Given the description of an element on the screen output the (x, y) to click on. 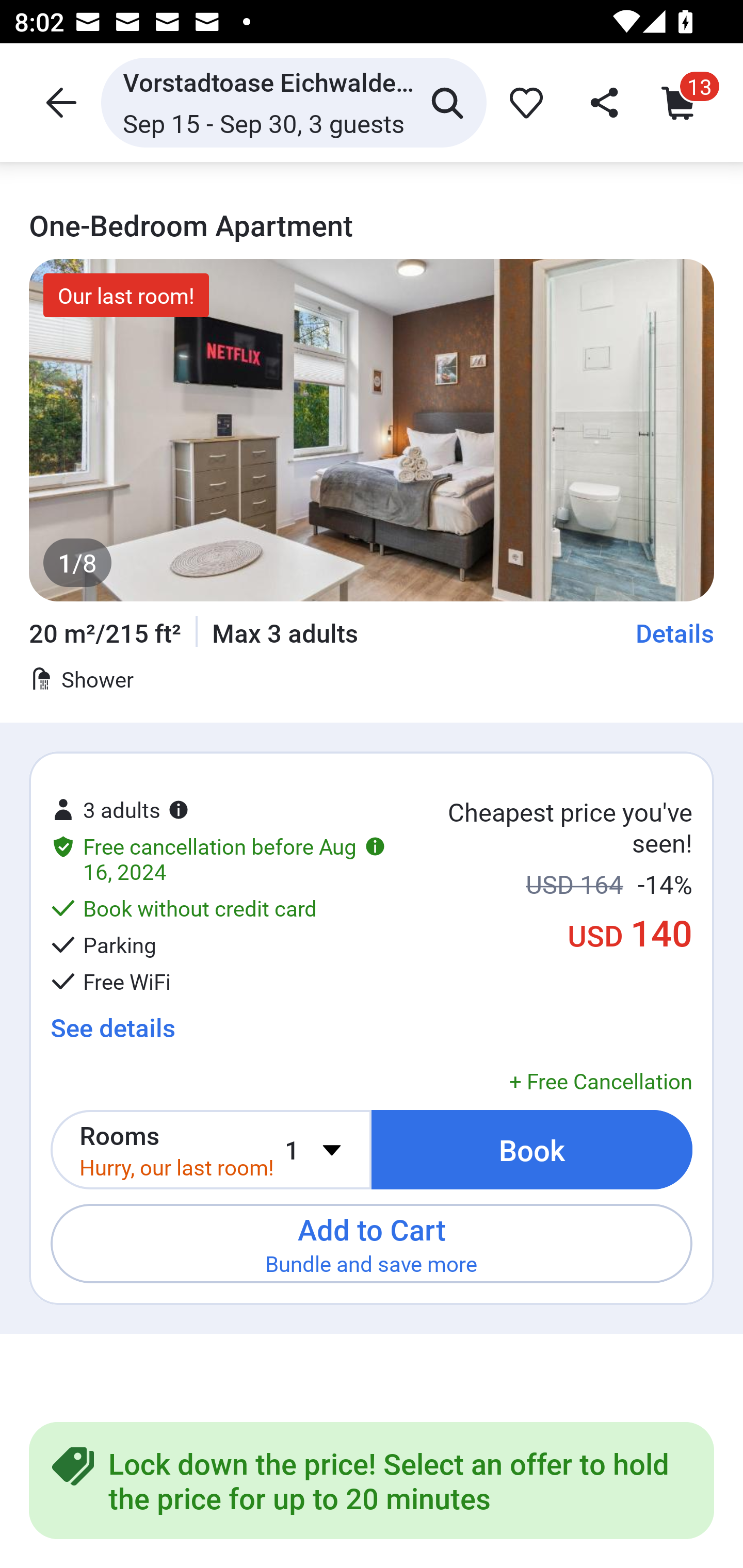
header icon (59, 102)
favorite_icon 0dbe6efb (522, 102)
share_header_icon (601, 102)
Cart icon cart_item_count 13 (683, 102)
image (371, 430)
Details (674, 632)
3 adults (119, 790)
Free cancellation before Aug 16, 2024 (217, 858)
See details (112, 1027)
Rooms Hurry, our last room! 1 (210, 1150)
Book (531, 1150)
Add to Cart Bundle and save more (371, 1243)
